Given the description of an element on the screen output the (x, y) to click on. 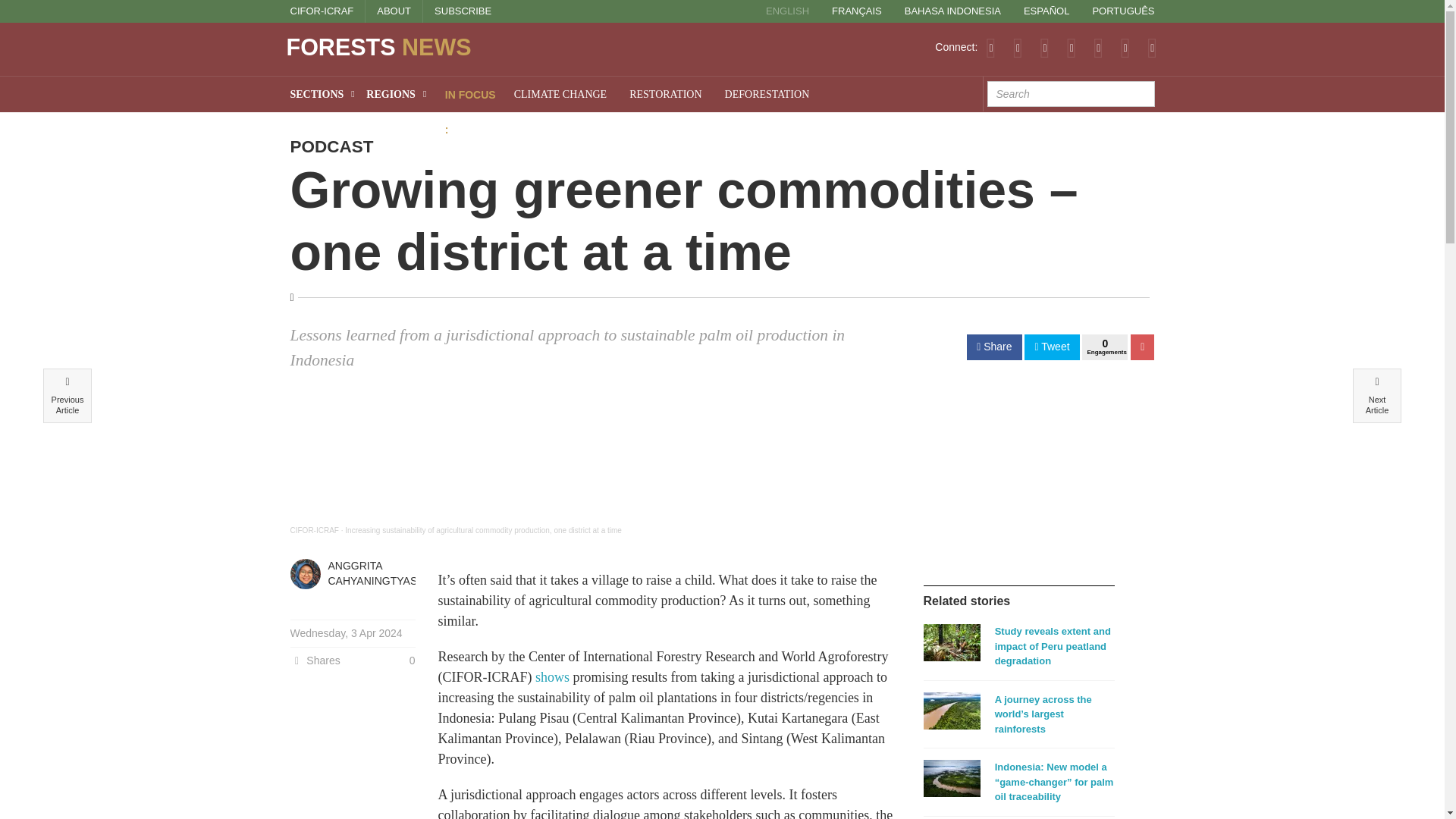
Share on Facebook (994, 347)
SUBSCRIBE (462, 10)
LinkedIn (1071, 46)
BAHASA INDONESIA (952, 11)
ENGLISH (787, 11)
CIFOR-ICRAF (321, 10)
Youtube (1098, 46)
Twitter (1017, 46)
ABOUT (393, 10)
Facebook (1044, 46)
